Given the description of an element on the screen output the (x, y) to click on. 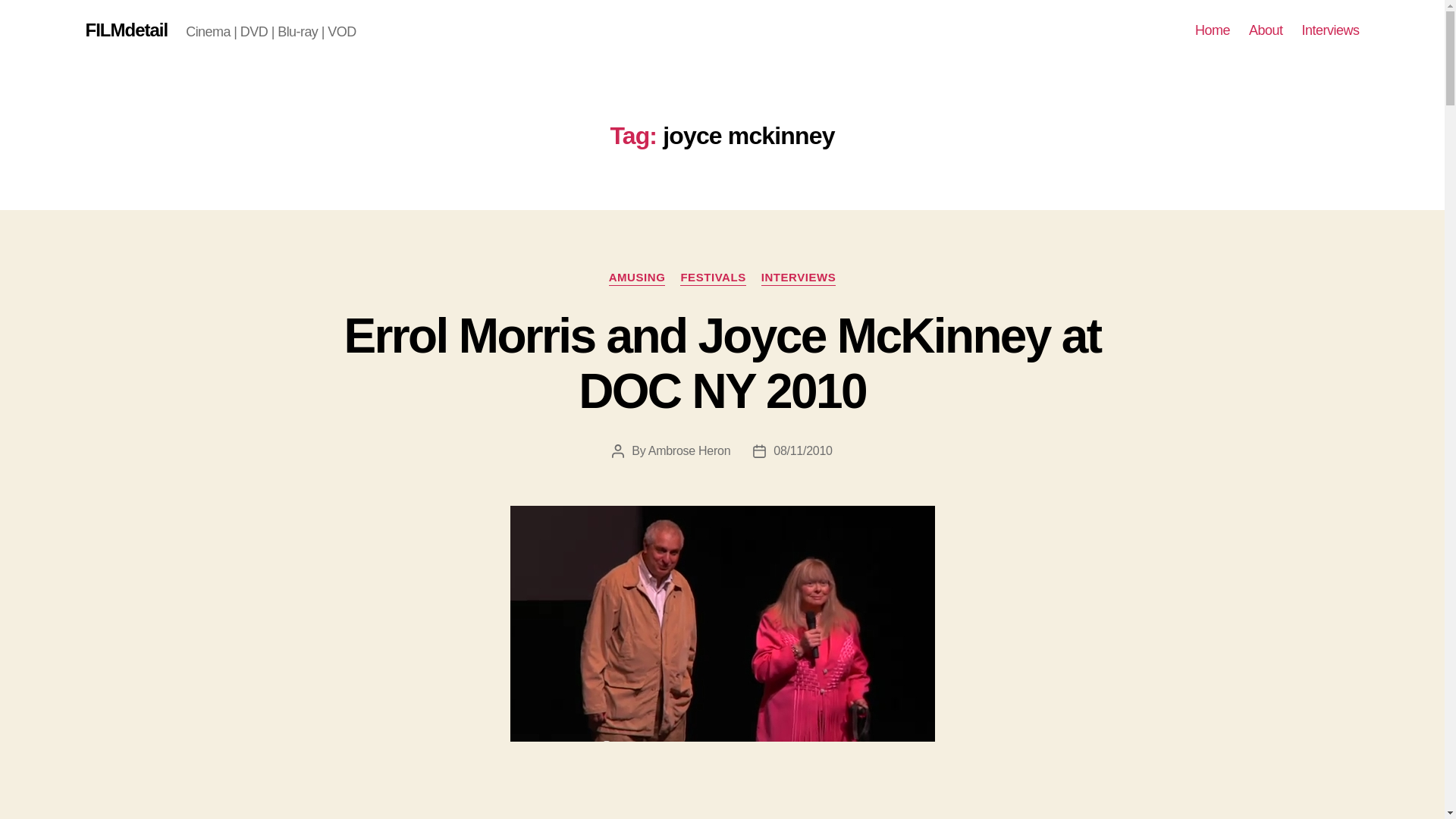
FILMdetail (125, 30)
About (1265, 30)
FESTIVALS (712, 278)
INTERVIEWS (798, 278)
Errol Morris and Joyce McKinney at DOC NY 2010 (721, 363)
Home (1212, 30)
Interviews (1329, 30)
Ambrose Heron (688, 450)
AMUSING (636, 278)
